Given the description of an element on the screen output the (x, y) to click on. 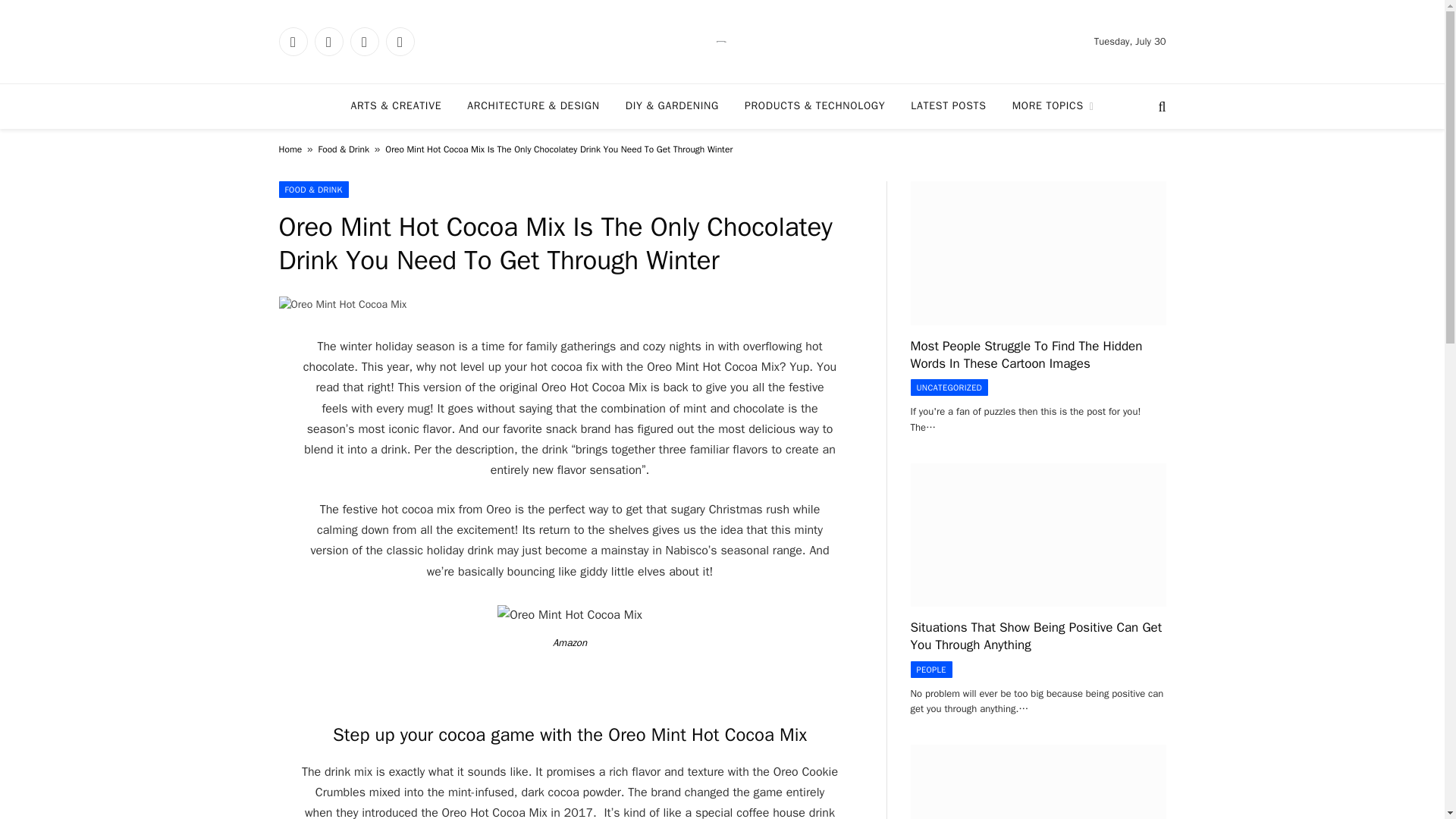
Pinterest (399, 41)
Facebook (293, 41)
MORE TOPICS (1052, 106)
Instagram (364, 41)
Home (290, 149)
Latest Posts (948, 106)
LATEST POSTS (948, 106)
